Given the description of an element on the screen output the (x, y) to click on. 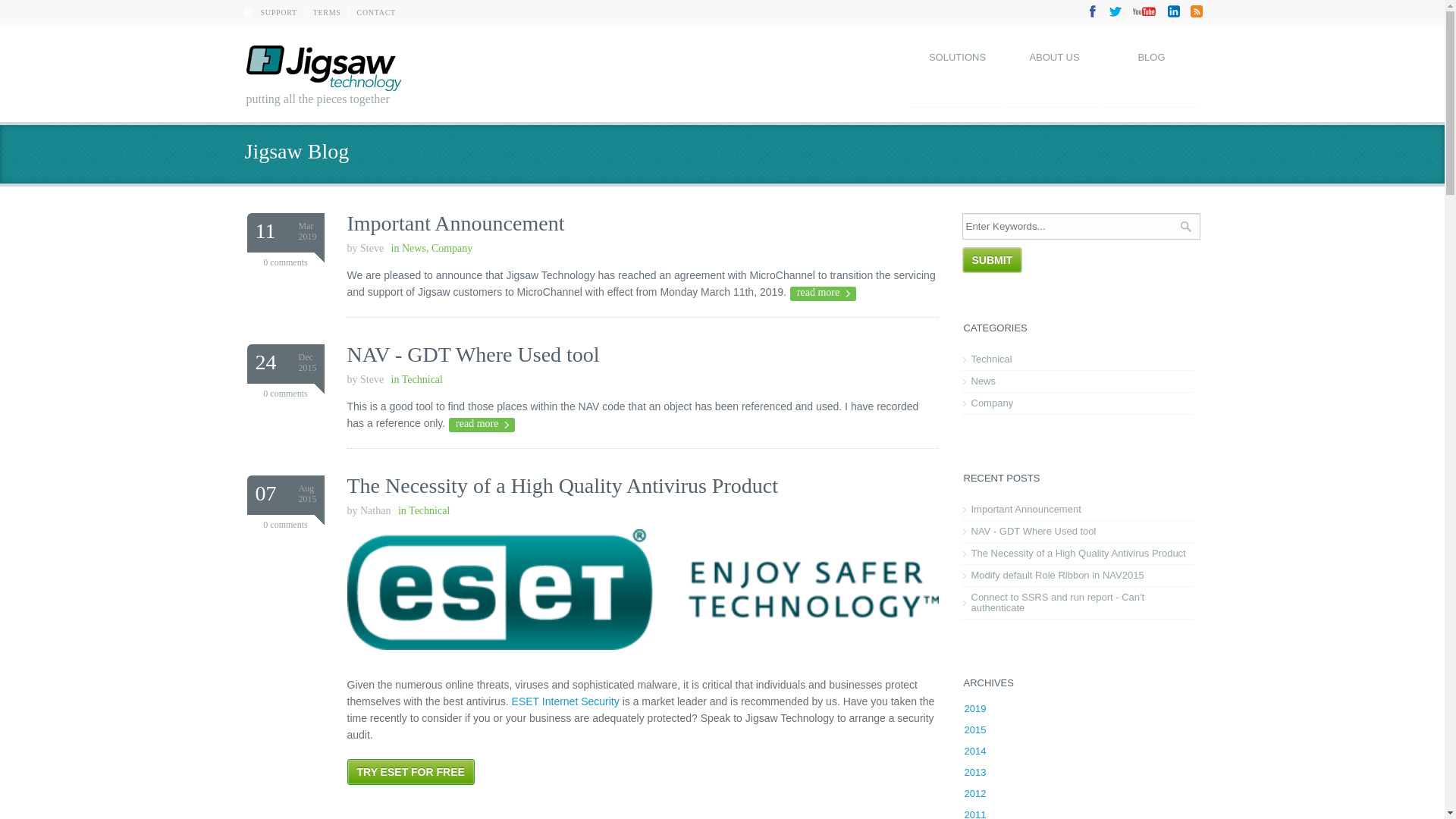
2014 Element type: text (975, 750)
Important Announcement Element type: text (1076, 509)
The Necessity of a High Quality Antivirus Product Element type: text (1076, 553)
Company Element type: text (1076, 403)
SUPPORT Element type: text (278, 12)
CONTACT Element type: text (376, 12)
ABOUT US Element type: text (1053, 70)
Important Announcement Element type: text (455, 223)
NAV - GDT Where Used tool Element type: text (1076, 531)
NAV - GDT Where Used tool Element type: text (473, 354)
2015 Element type: text (975, 729)
News Element type: text (1076, 381)
read more Element type: text (823, 293)
ESET Antivirus Element type: hover (642, 656)
2019 Element type: text (975, 708)
TRY ESET FOR FREE Element type: text (410, 771)
Technical Element type: text (1076, 359)
2013 Element type: text (975, 772)
Modify default Role Ribbon in NAV2015 Element type: text (1076, 575)
Connect to SSRS and run report - Can't authenticate Element type: text (1076, 602)
2012 Element type: text (975, 793)
SOLUTIONS Element type: text (956, 70)
TRY ESET FOR FREE Element type: text (410, 771)
The Necessity of a High Quality Antivirus Product Element type: text (562, 485)
ESET Internet Security Element type: text (565, 701)
BLOG Element type: text (1150, 70)
Submit Element type: text (991, 260)
TERMS Element type: text (327, 12)
read more Element type: text (481, 424)
